Given the description of an element on the screen output the (x, y) to click on. 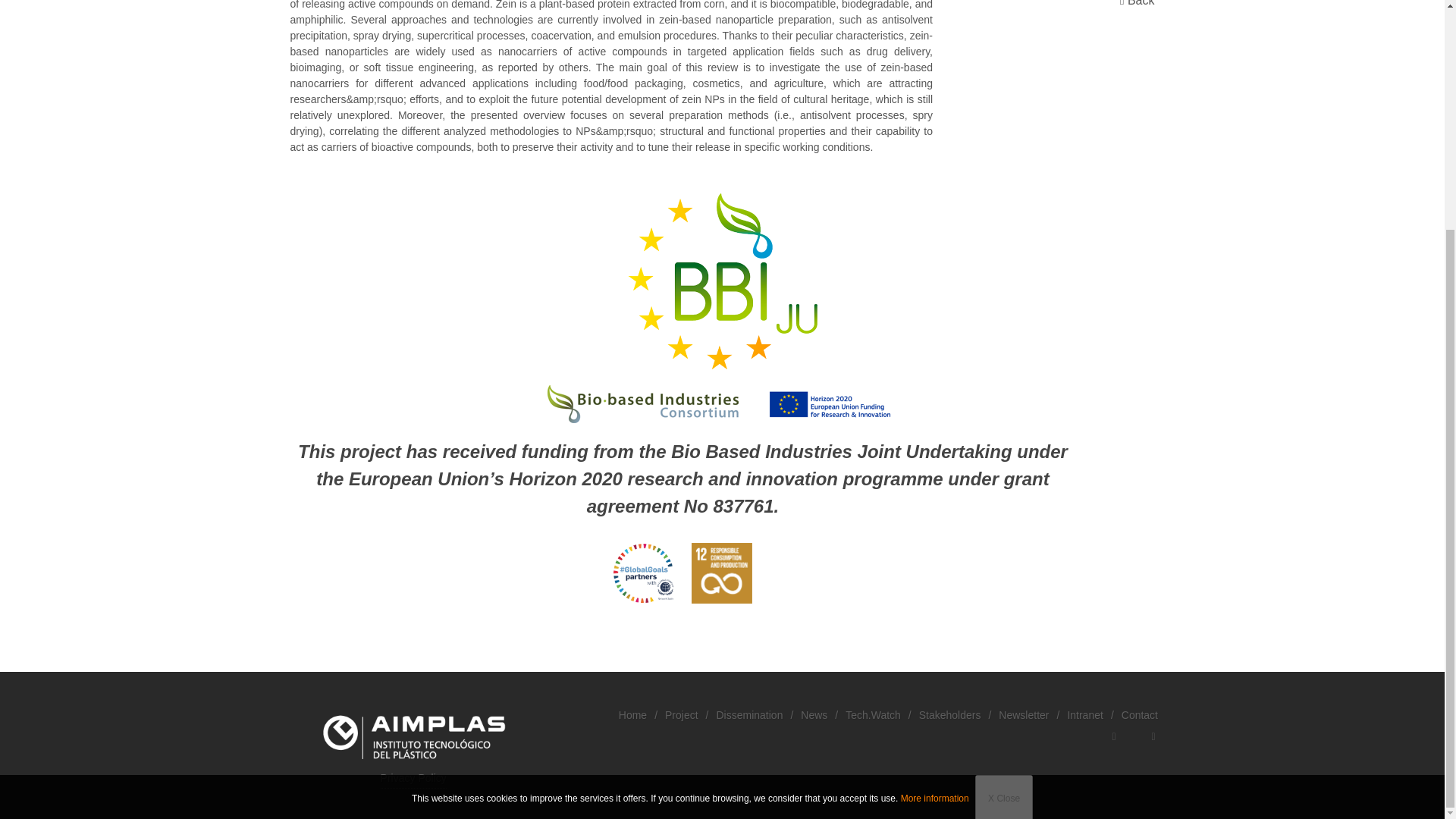
Privacy Policy (413, 778)
Home (632, 714)
Intranet (1084, 714)
Stakeholders (949, 714)
Project (681, 714)
X Close (1003, 488)
More information (935, 488)
Tech.Watch (873, 714)
Dissemination (749, 714)
News (813, 714)
